Given the description of an element on the screen output the (x, y) to click on. 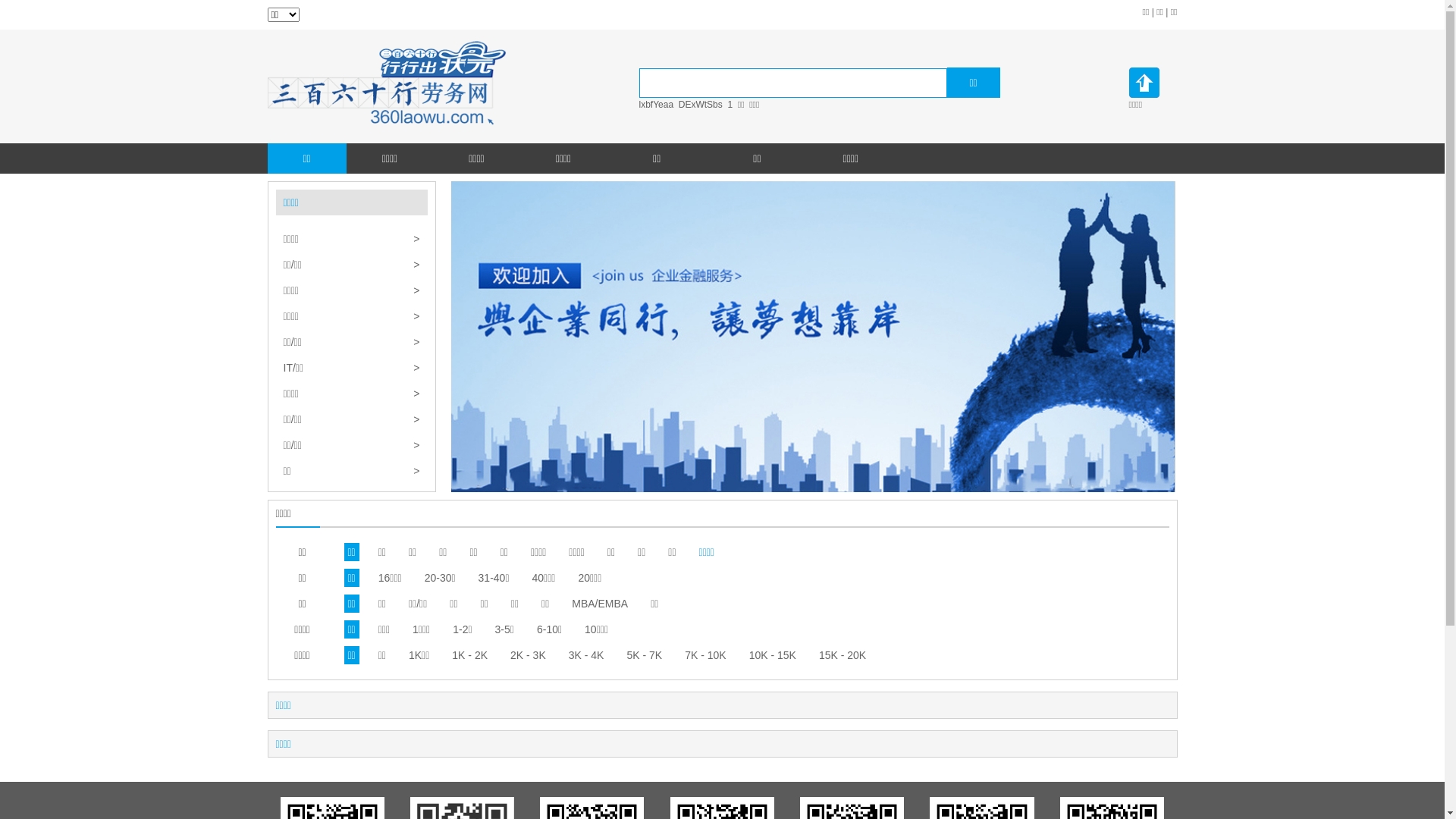
3K - 4K Element type: text (586, 655)
7K - 10K Element type: text (704, 655)
MBA/EMBA Element type: text (599, 603)
1K - 2K Element type: text (469, 655)
5K - 7K Element type: text (644, 655)
15K - 20K Element type: text (842, 655)
10K - 15K Element type: text (772, 655)
2K - 3K Element type: text (528, 655)
